Given the description of an element on the screen output the (x, y) to click on. 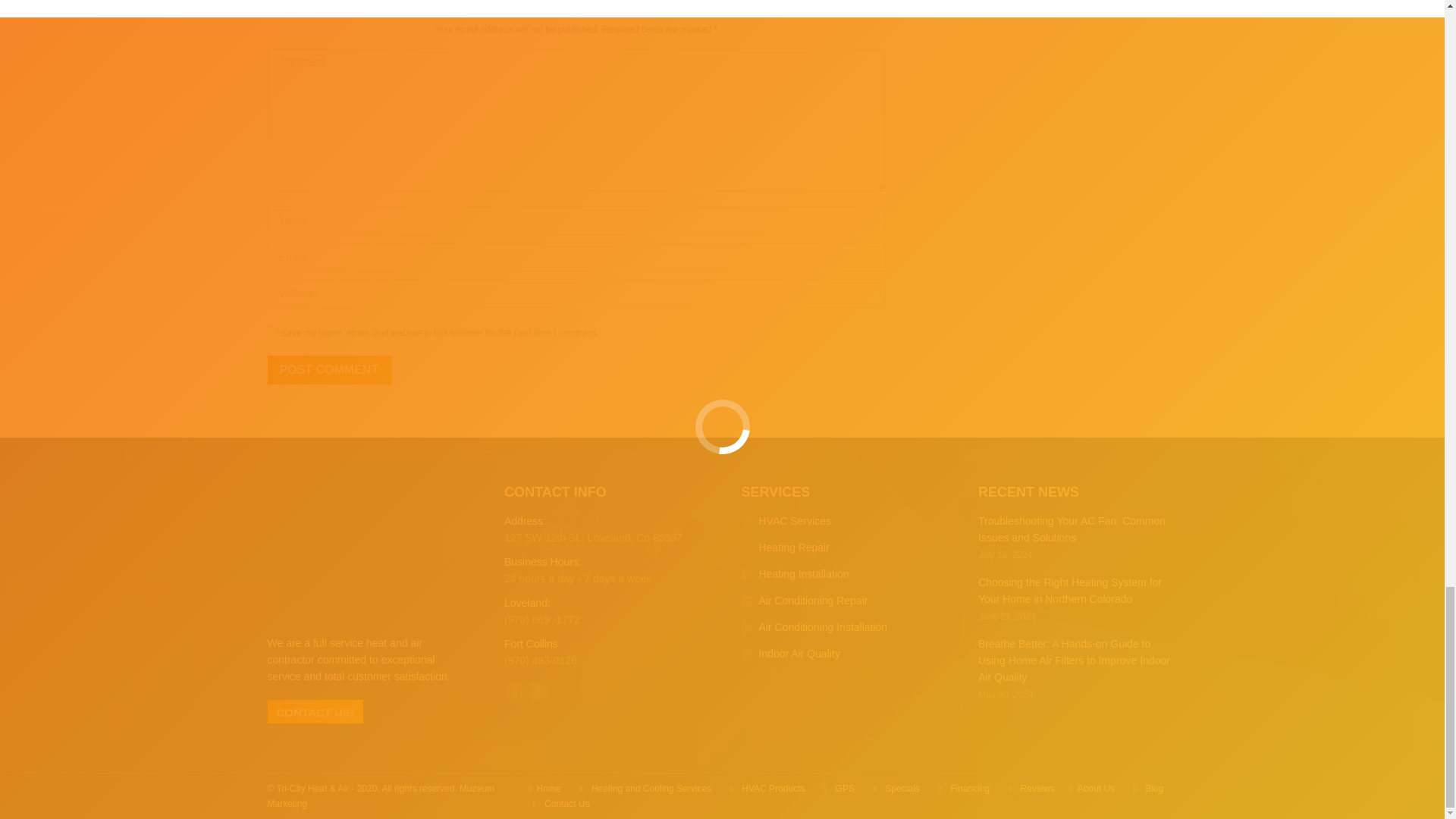
Twitter page opens in new window (538, 691)
yes (271, 330)
Facebook page opens in new window (515, 691)
